Given the description of an element on the screen output the (x, y) to click on. 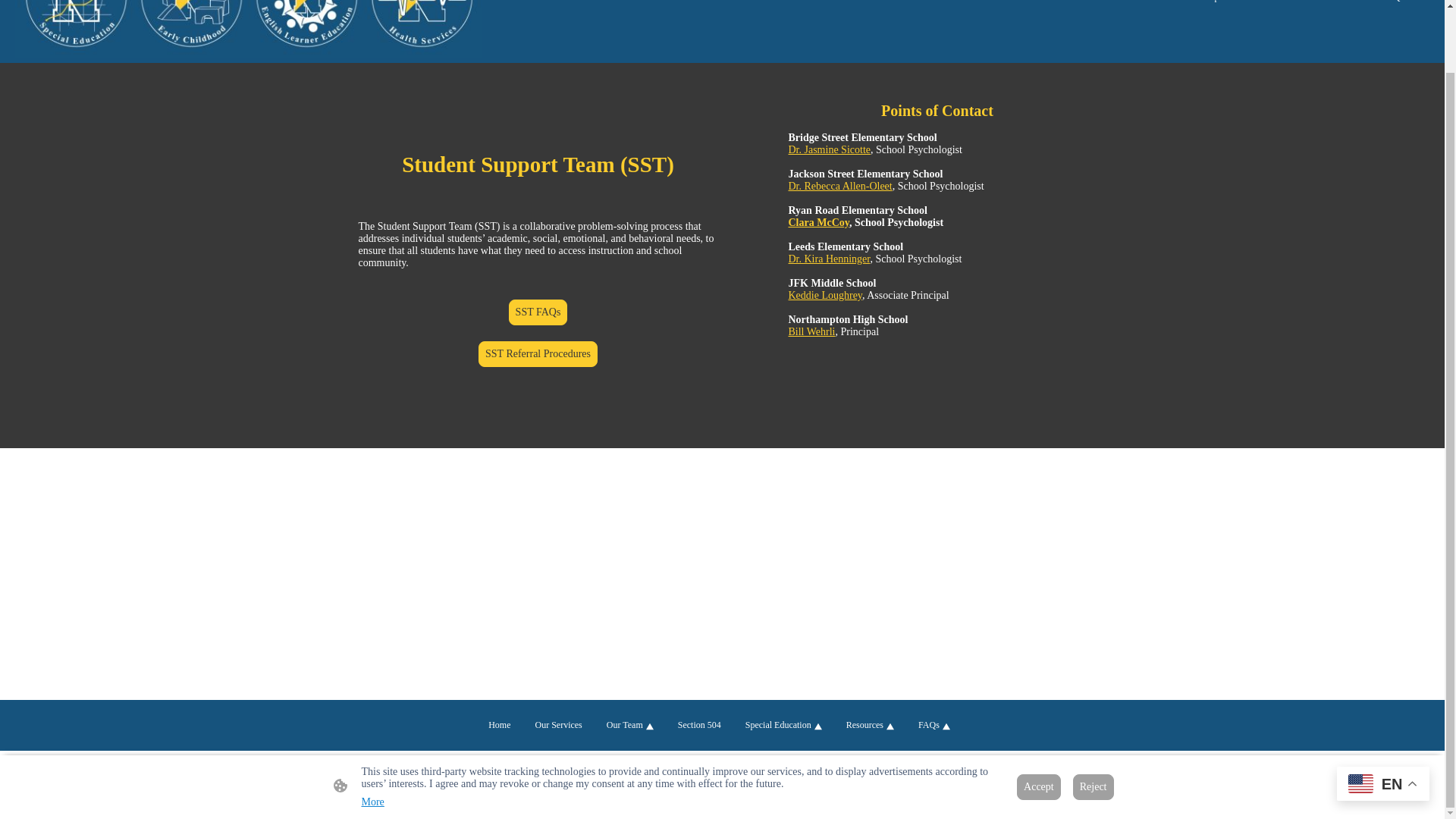
Section 504 (1163, 4)
Dr. Jasmine Sicotte (829, 149)
Home (962, 4)
SST FAQs (537, 312)
FAQs (1398, 4)
Resources (1334, 4)
Clara McCoy (818, 222)
Special Education (1248, 4)
Our Services (1022, 4)
Dr. Rebecca Allen-Oleet (840, 185)
Our Team (1093, 4)
